Given the description of an element on the screen output the (x, y) to click on. 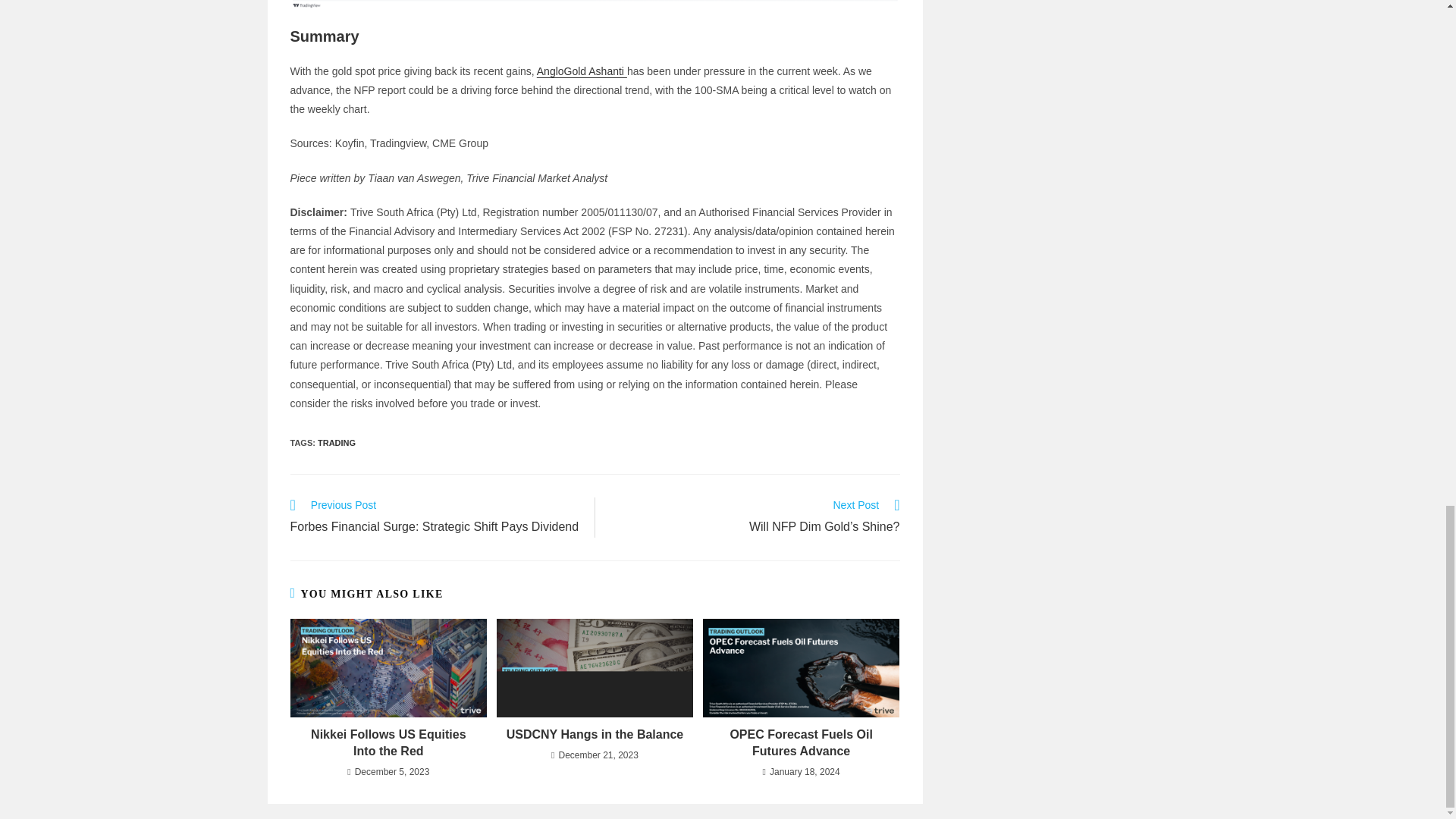
Nikkei Follows US Equities Into the Red (387, 743)
AngloGold Ashanti (582, 70)
USDCNY Hangs in the Balance (594, 734)
TRADING (336, 442)
OPEC Forecast Fuels Oil Futures Advance (801, 743)
